Given the description of an element on the screen output the (x, y) to click on. 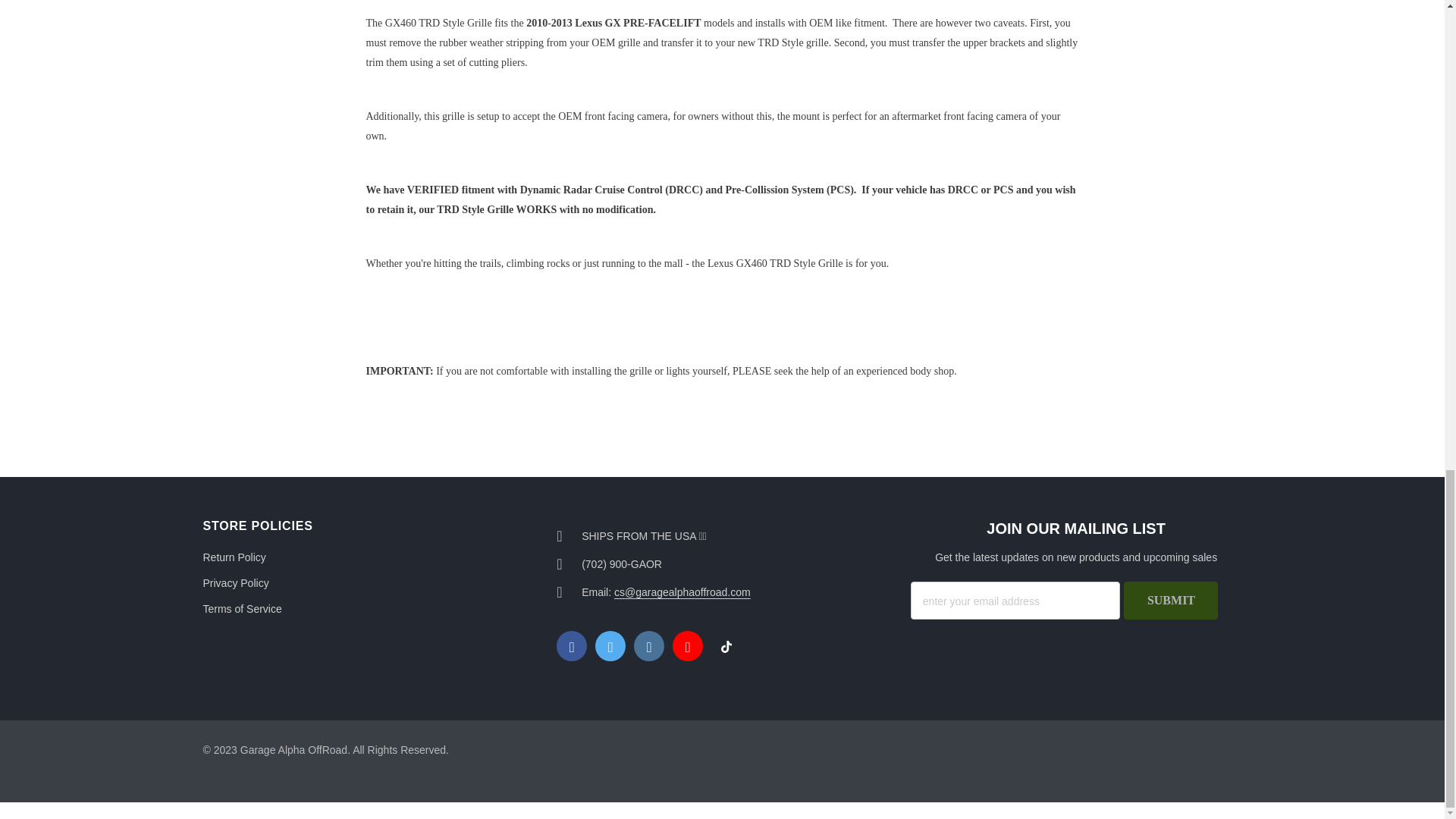
Twitter (610, 645)
Submit (1170, 600)
Privacy Policy (236, 583)
Return Policy (234, 557)
Facebook (571, 645)
Terms of Service (242, 608)
